Given the description of an element on the screen output the (x, y) to click on. 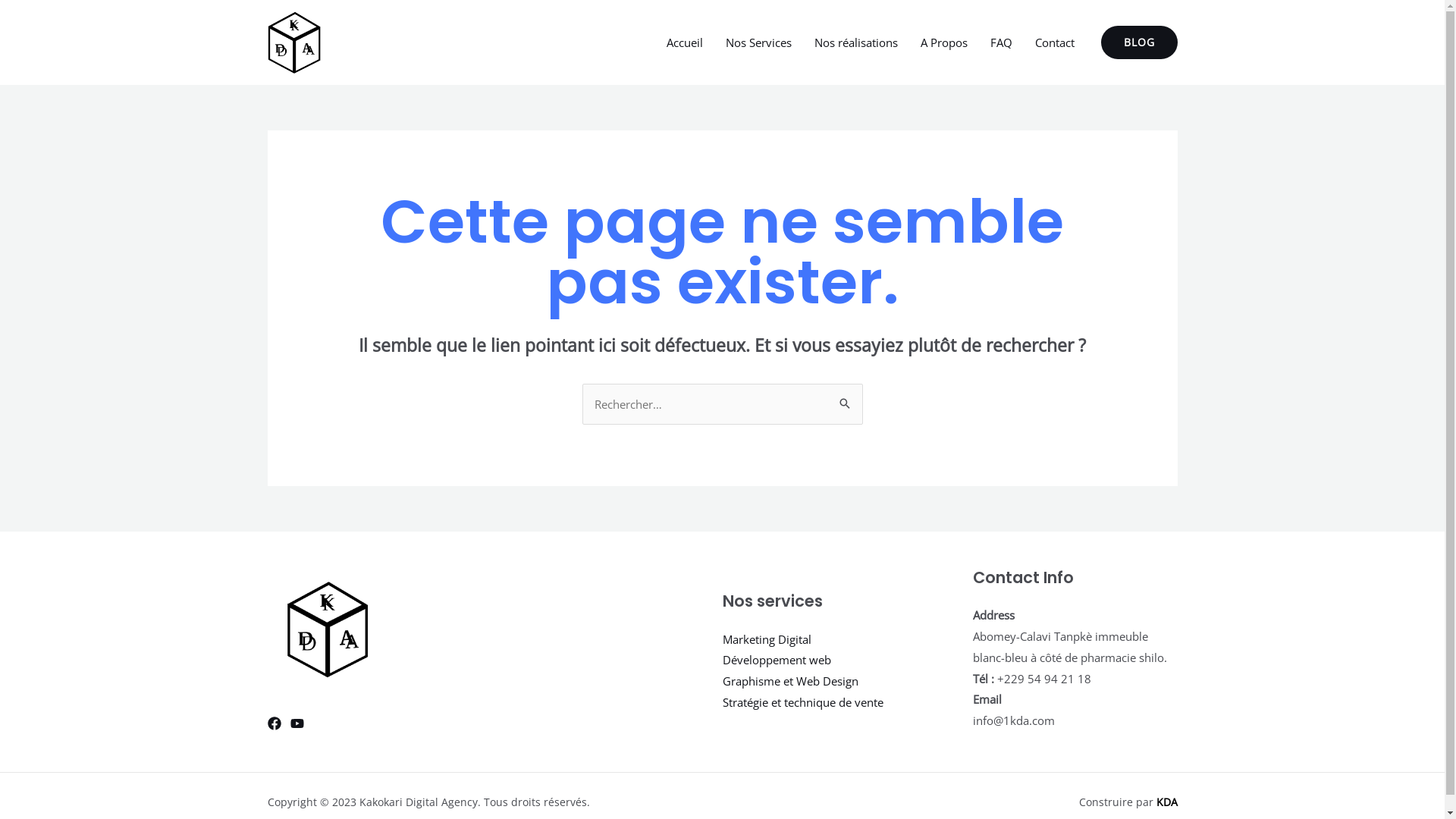
Nos Services Element type: text (758, 42)
A Propos Element type: text (943, 42)
FAQ Element type: text (1000, 42)
KDA Element type: text (1165, 801)
Accueil Element type: text (684, 42)
Contact Element type: text (1054, 42)
BLOG Element type: text (1139, 42)
Graphisme et Web Design Element type: text (789, 680)
Marketing Digital Element type: text (765, 638)
Rechercher Element type: text (845, 398)
